Given the description of an element on the screen output the (x, y) to click on. 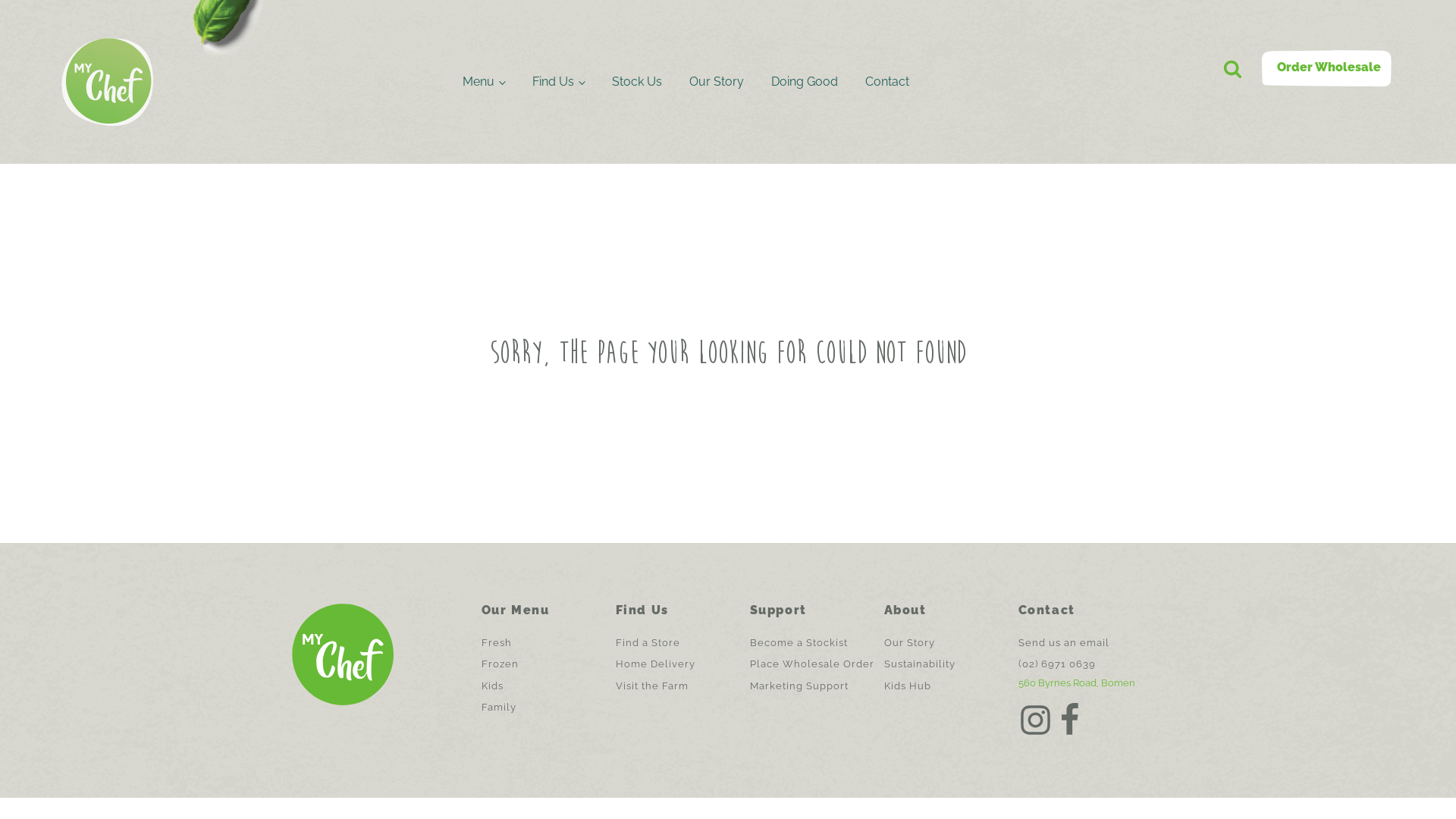
Place Wholesale Order Element type: text (811, 663)
Contact Element type: text (886, 81)
Menu Element type: text (483, 81)
Order Wholesale Element type: text (1328, 68)
Become a Stockist Element type: text (798, 642)
Our Story Element type: text (716, 81)
(02) 6971 0639 Element type: text (1056, 663)
Our Story Element type: text (909, 642)
Marketing Support Element type: text (798, 685)
560 Byrnes Road, Bomen Element type: text (1076, 682)
Family Element type: text (498, 707)
Search Element type: text (31, 13)
Find a Store Element type: text (647, 642)
Fresh Element type: text (496, 642)
Send us an email Element type: text (1063, 642)
Home Delivery Element type: text (655, 663)
Visit the Farm Element type: text (651, 685)
Kids Element type: text (492, 685)
Kids Hub Element type: text (907, 685)
Find Us Element type: text (558, 81)
Frozen Element type: text (499, 663)
Doing Good Element type: text (804, 81)
Sustainability Element type: text (919, 663)
Stock Us Element type: text (636, 81)
